Given the description of an element on the screen output the (x, y) to click on. 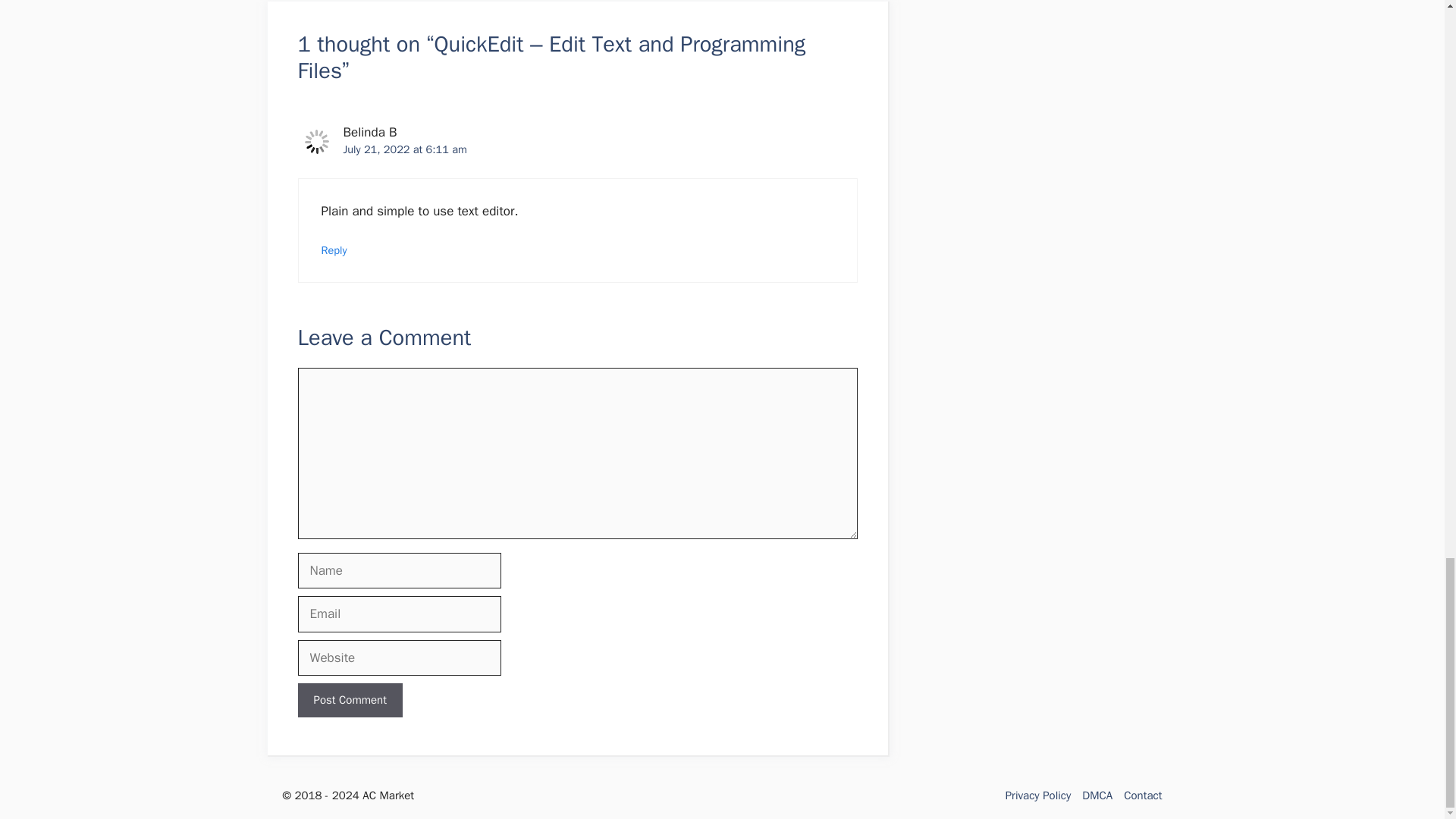
Post Comment (349, 700)
Post Comment (349, 700)
Contact (1142, 795)
Privacy Policy (1038, 795)
DMCA (1096, 795)
July 21, 2022 at 6:11 am (403, 149)
Reply (334, 250)
